Given the description of an element on the screen output the (x, y) to click on. 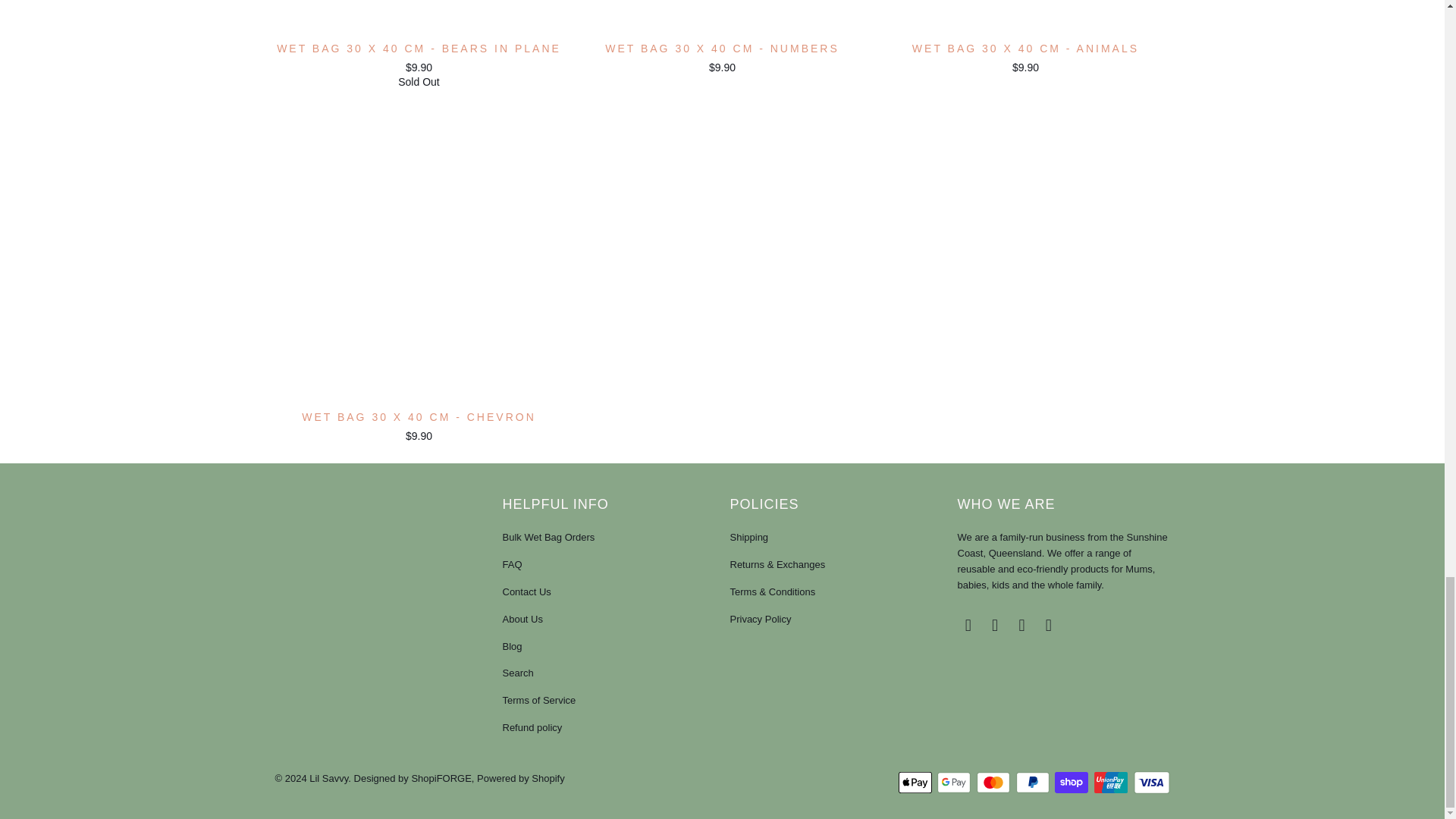
PayPal (1034, 782)
Google Pay (955, 782)
Lil Savvy on Pinterest (995, 625)
Visa (1150, 782)
Mastercard (994, 782)
Shop Pay (1072, 782)
Apple Pay (916, 782)
Email Lil Savvy (1047, 625)
Lil Savvy on Instagram (1021, 625)
Lil Savvy on Facebook (967, 625)
Union Pay (1112, 782)
